Given the description of an element on the screen output the (x, y) to click on. 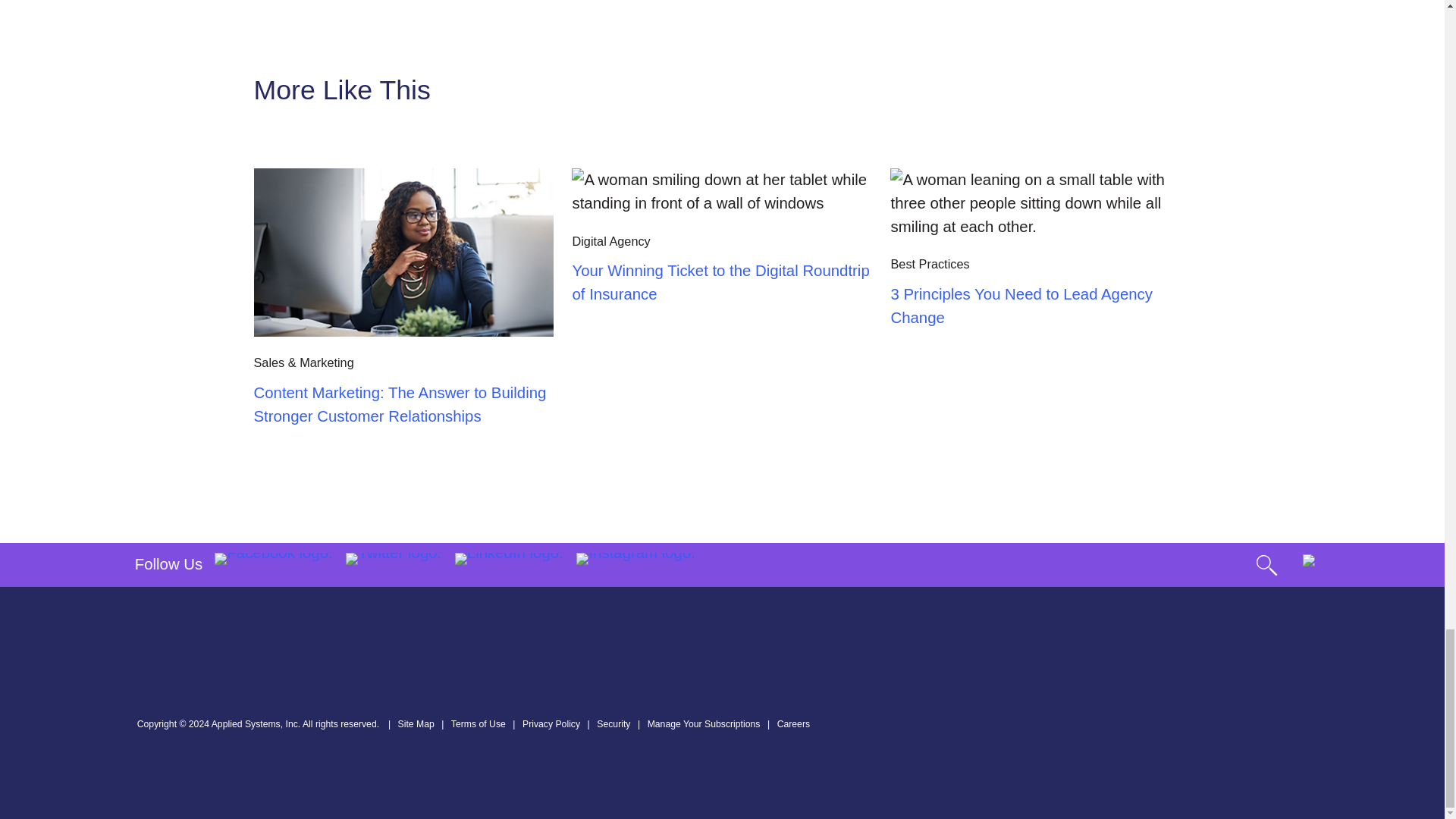
LinkedIn (508, 564)
Your Winning Ticket to the Digital Roundtrip of Insurance (722, 191)
Latest Blog Post (1040, 203)
Search (1266, 565)
Facebook (272, 564)
Twitter (392, 564)
Instagram (635, 564)
